Given the description of an element on the screen output the (x, y) to click on. 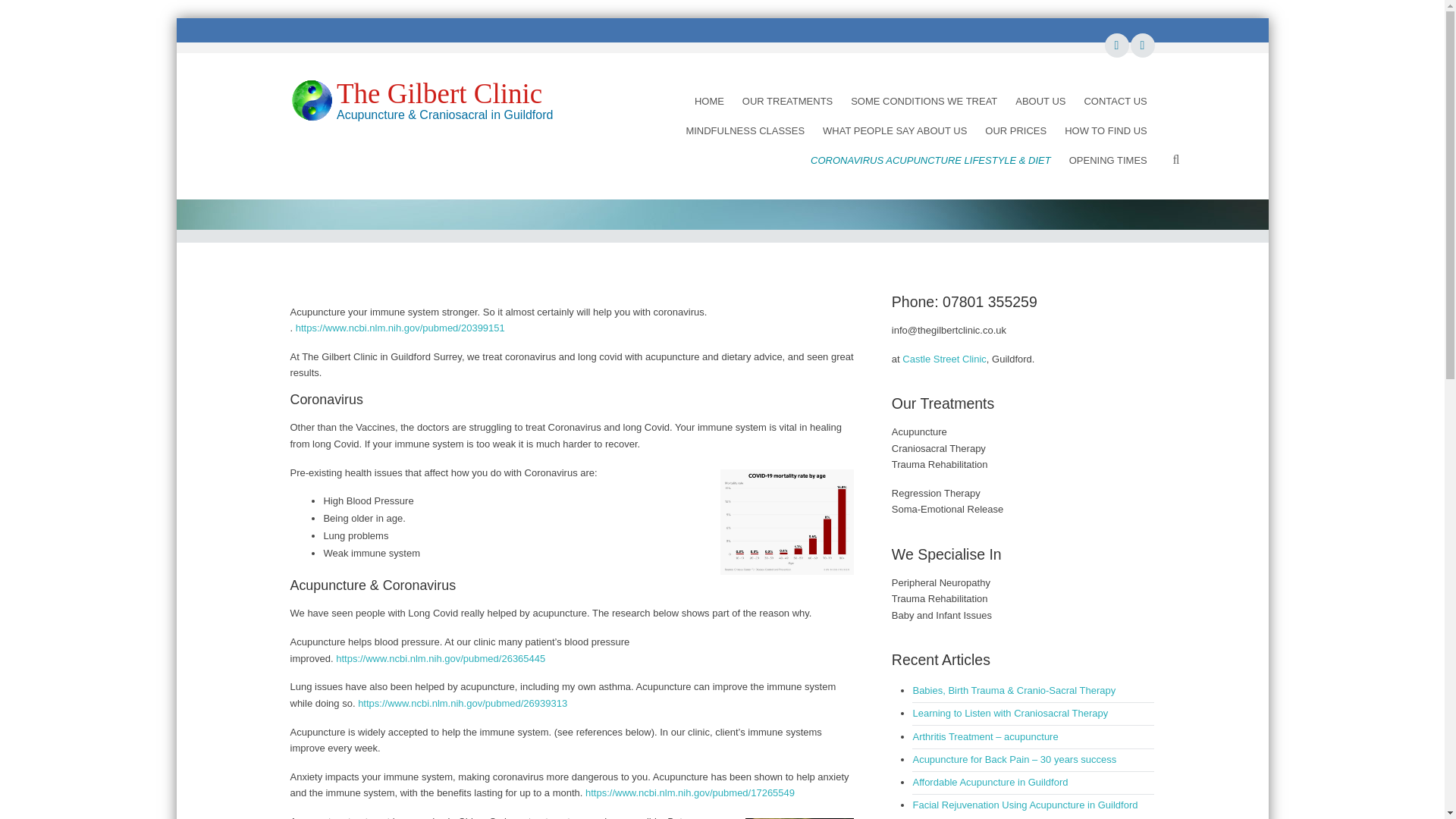
MINDFULNESS CLASSES (745, 130)
HOME (709, 101)
Instagram (1141, 44)
SOME CONDITIONS WE TREAT (923, 101)
The Gilbert Clinic (438, 92)
OUR TREATMENTS (787, 101)
WHAT PEOPLE SAY ABOUT US (894, 130)
The Gilbert Clinic (438, 92)
HOW TO FIND US (1105, 130)
OPENING TIMES (1107, 160)
The Gilbert Clinic (311, 100)
Facebook (1115, 44)
OUR PRICES (1016, 130)
